Given the description of an element on the screen output the (x, y) to click on. 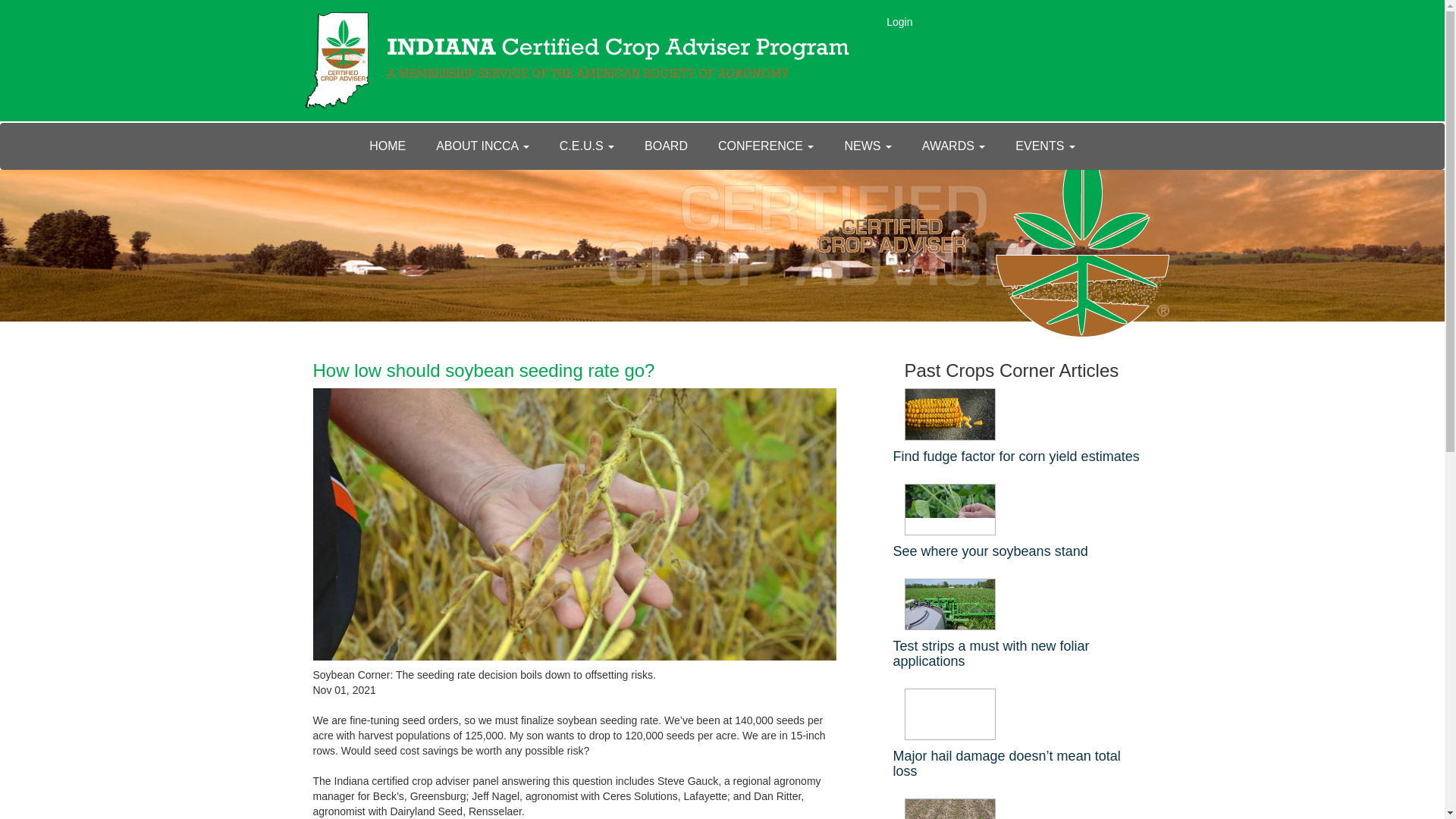
NEWS (866, 145)
HOME (386, 145)
AWARDS (953, 145)
How low should soybean seeding rate go? (483, 370)
BOARD (665, 145)
CONFERENCE (765, 145)
Login to my account (899, 21)
C.E.U.S (586, 145)
EVENTS (1044, 145)
Login (899, 21)
